Given the description of an element on the screen output the (x, y) to click on. 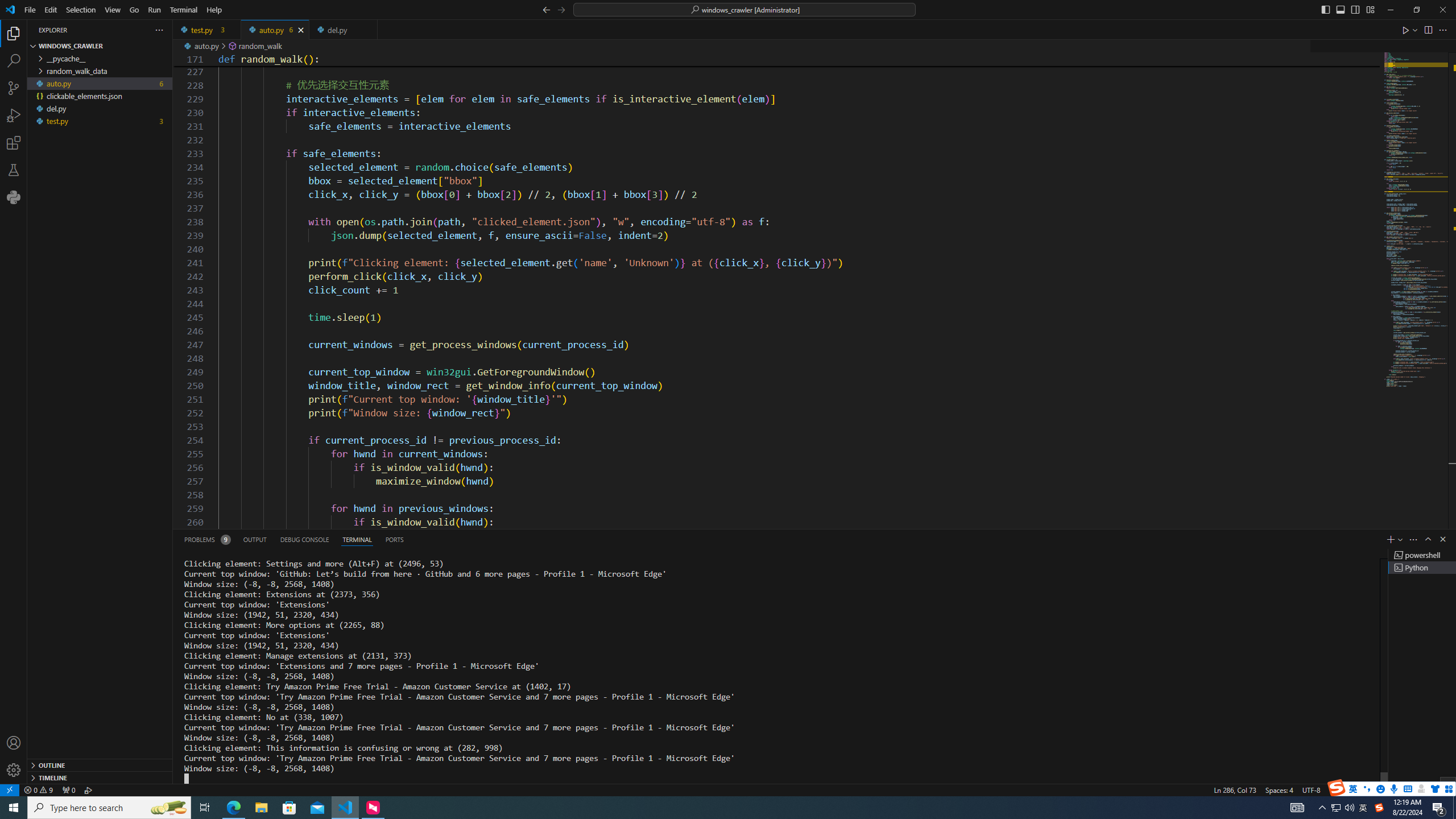
More Actions... (1442, 29)
Edit (50, 9)
Toggle Primary Side Bar (Ctrl+B) (1325, 9)
Extensions (Ctrl+Shift+X) (13, 142)
Explorer actions (118, 29)
Maximize Panel Size (1428, 539)
Spaces: 4 (1278, 789)
auto.py (274, 29)
Outline Section (99, 764)
Run Python File (1405, 29)
Split Editor Right (Ctrl+\) [Alt] Split Editor Down (1428, 29)
Python (1373, 789)
Go Back (Alt+LeftArrow) (546, 9)
